Given the description of an element on the screen output the (x, y) to click on. 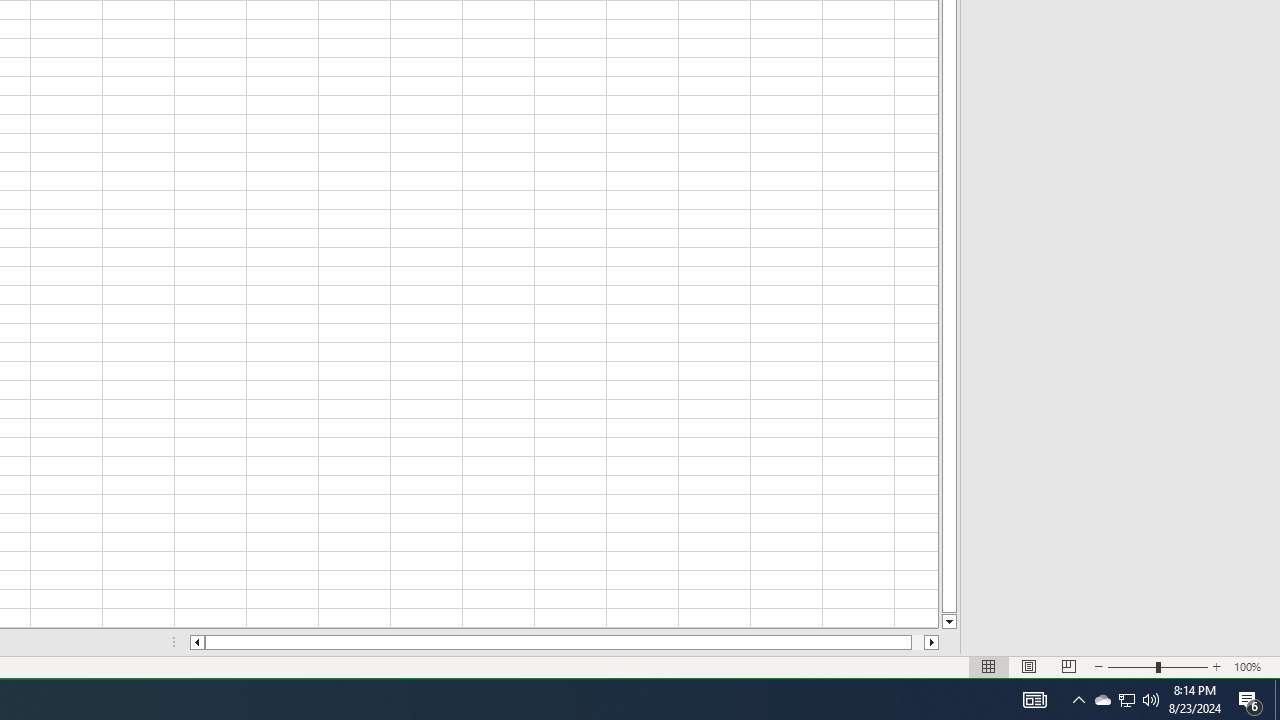
Action Center, 6 new notifications (1250, 699)
AutomationID: 4105 (1034, 699)
User Promoted Notification Area (1126, 699)
Notification Chevron (1078, 699)
